Given the description of an element on the screen output the (x, y) to click on. 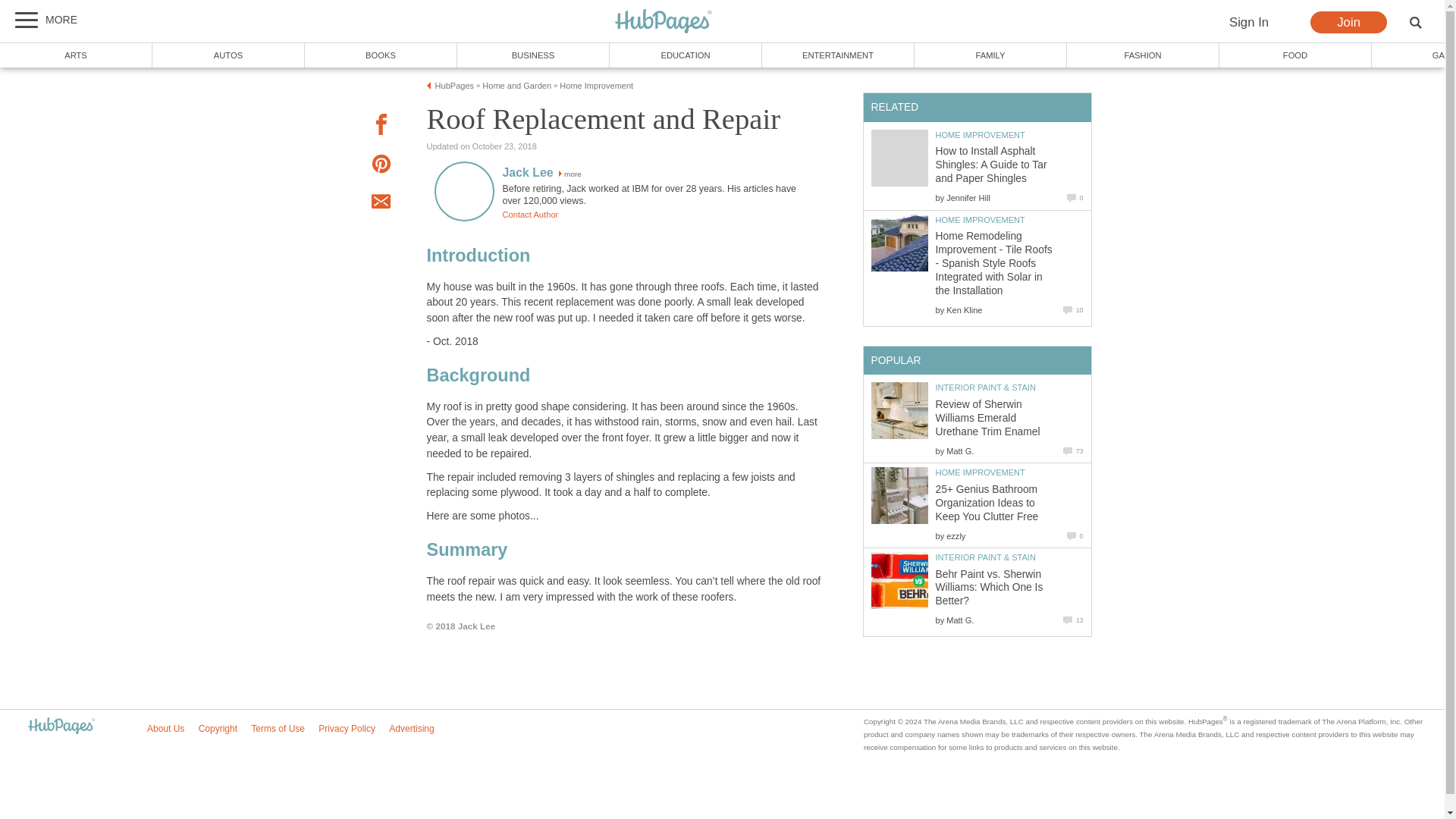
Email (380, 203)
EDUCATION (685, 55)
HubPages (663, 22)
To the HubPages home page (60, 726)
BUSINESS (533, 55)
ENTERTAINMENT (837, 55)
Home and Garden (516, 85)
HubPages (454, 85)
HOME IMPROVEMENT (980, 219)
